Given the description of an element on the screen output the (x, y) to click on. 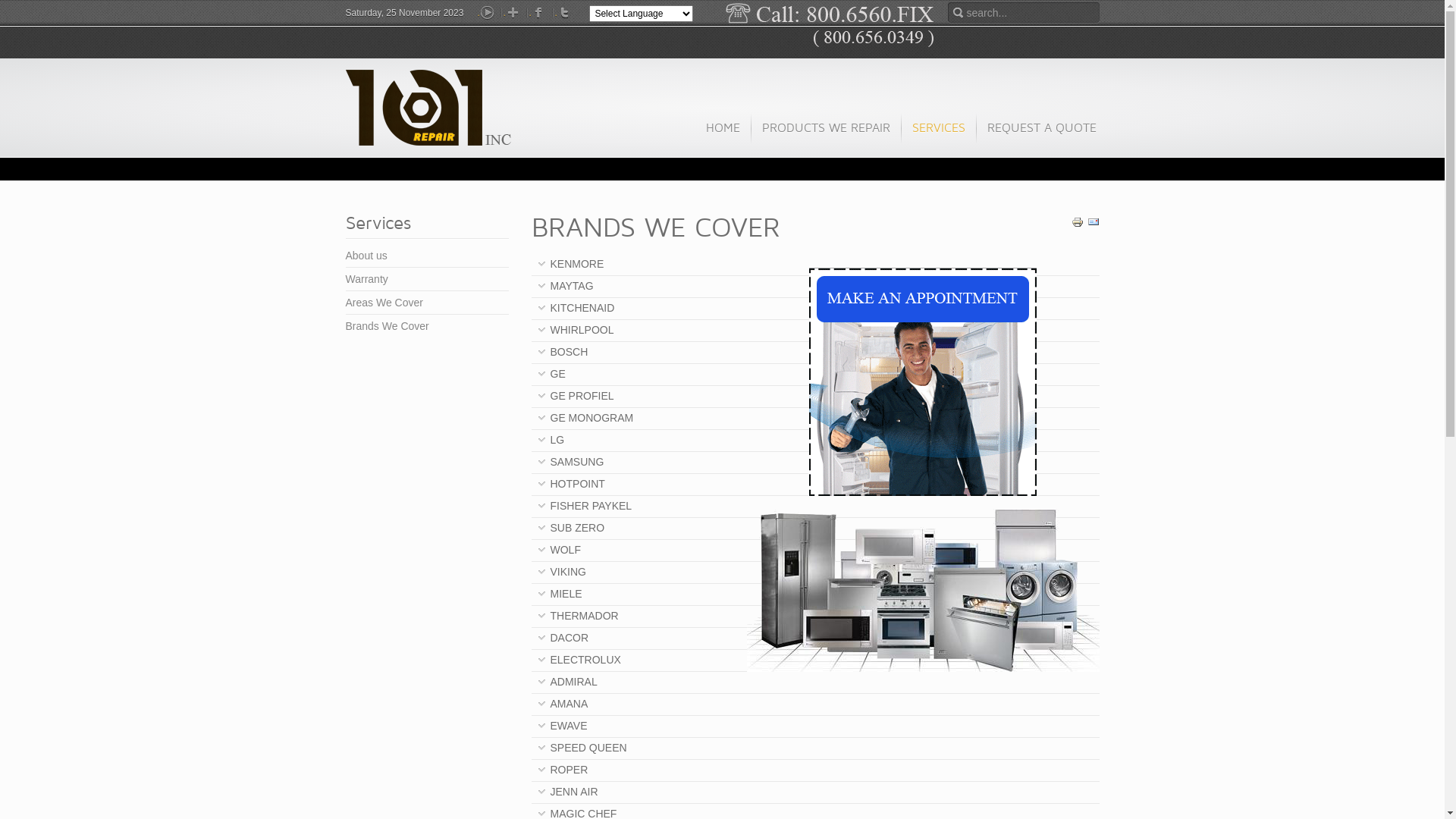
REQUEST A QUOTE Element type: text (1040, 134)
Warranty Element type: text (426, 278)
HOME Element type: text (722, 134)
PRODUCTS WE REPAIR Element type: text (825, 134)
. Element type: text (564, 12)
. Element type: text (487, 12)
. Element type: text (513, 12)
. Element type: text (538, 12)
Reset Element type: text (3, 3)
SERVICES Element type: text (937, 134)
Areas We Cover Element type: text (426, 302)
  Element type: text (428, 107)
About us Element type: text (426, 255)
Print Element type: hover (1076, 224)
Brands We Cover Element type: text (426, 325)
Email Element type: hover (1093, 224)
